Given the description of an element on the screen output the (x, y) to click on. 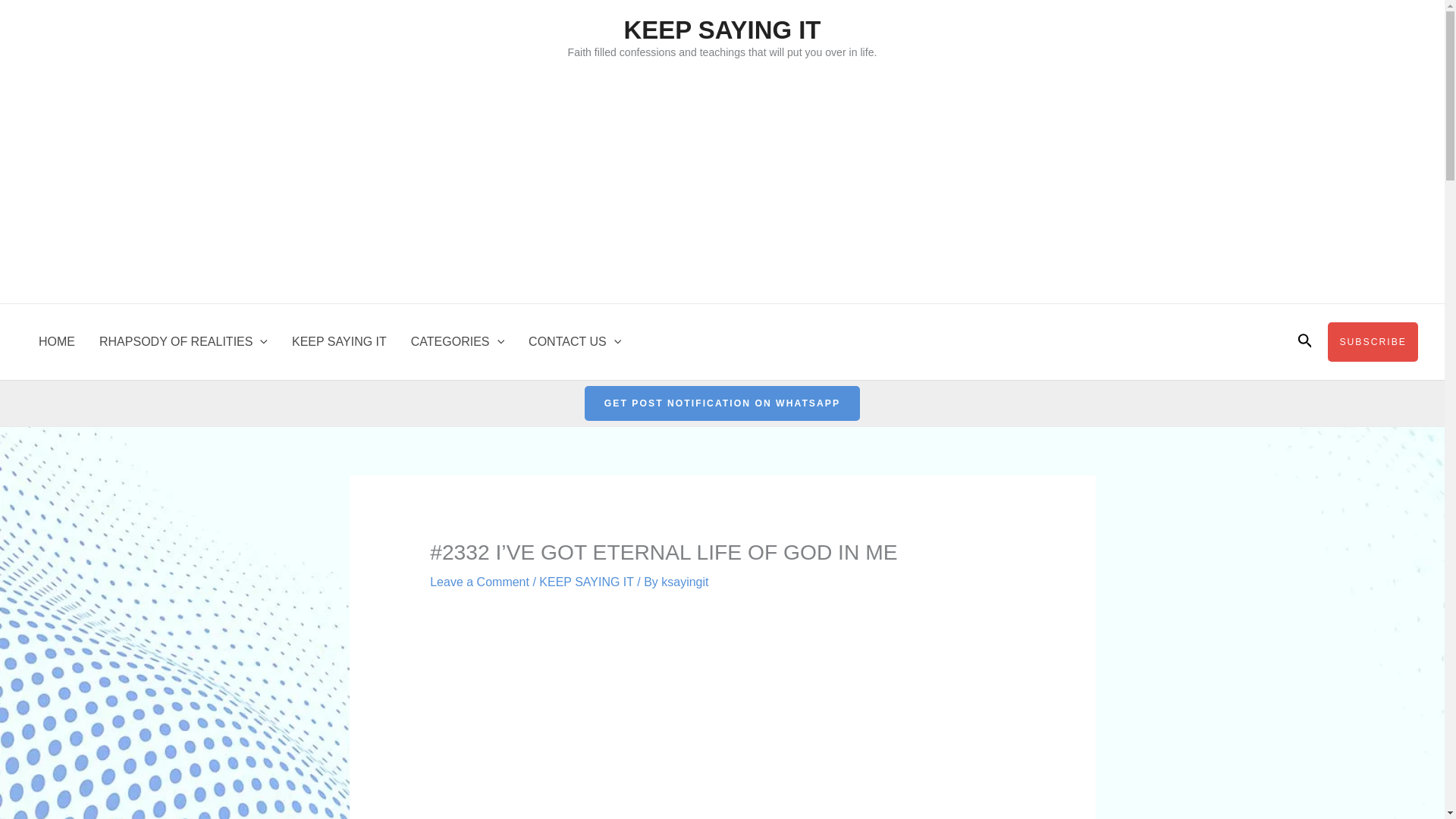
View all posts by ksayingit (684, 581)
KEEP SAYING IT (338, 341)
RHAPSODY OF REALITIES (183, 341)
ksayingit (684, 581)
GET POST NOTIFICATION ON WHATSAPP (722, 402)
KEEP SAYING IT (722, 29)
CONTACT US (574, 341)
CATEGORIES (457, 341)
KEEP SAYING IT (585, 581)
Leave a Comment (479, 581)
